Given the description of an element on the screen output the (x, y) to click on. 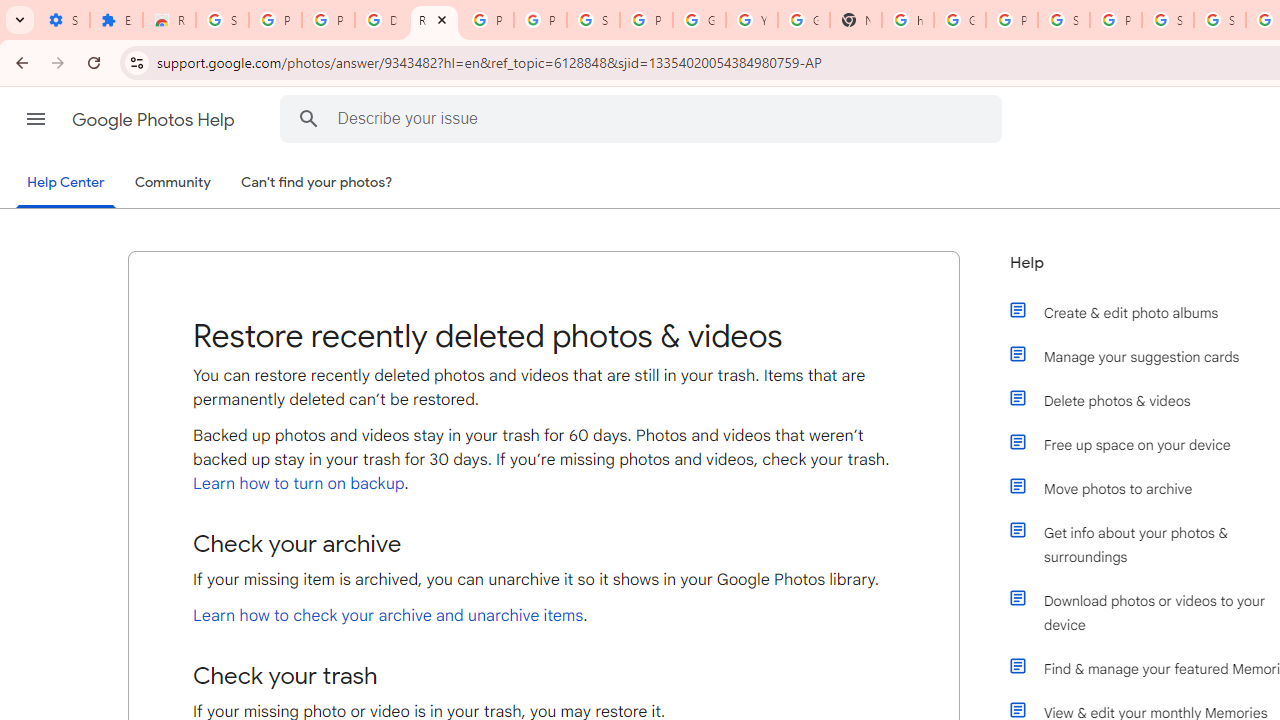
Can't find your photos? (317, 183)
Learn how to check your archive and unarchive items (388, 615)
Forward (57, 62)
Google Photos Help (155, 119)
Sign in - Google Accounts (1167, 20)
Reload (93, 62)
System (10, 11)
Search Help Center (309, 118)
Reviews: Helix Fruit Jump Arcade Game (169, 20)
Close (441, 19)
